Given the description of an element on the screen output the (x, y) to click on. 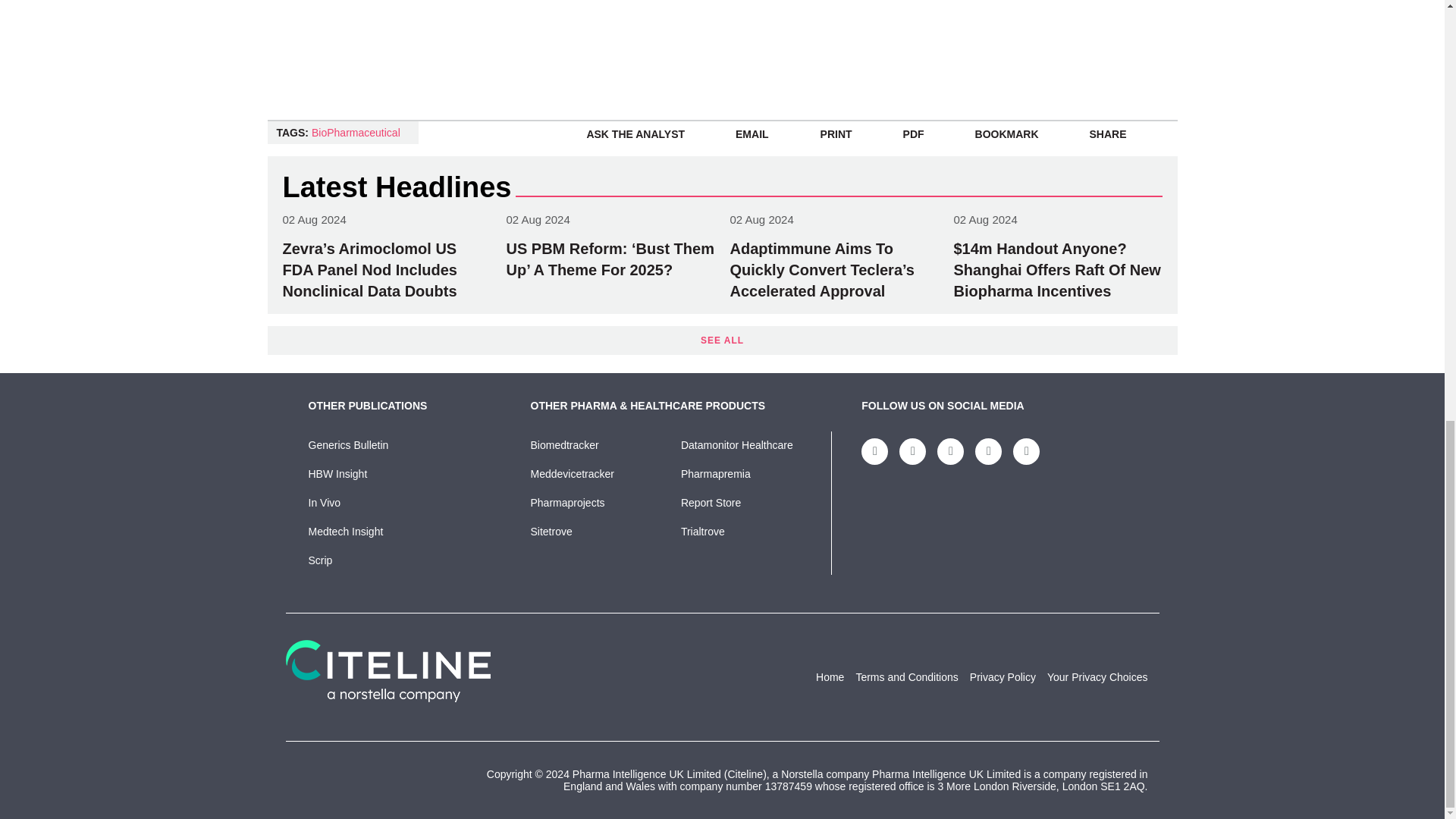
3rd party ad content (1070, 41)
